Given the description of an element on the screen output the (x, y) to click on. 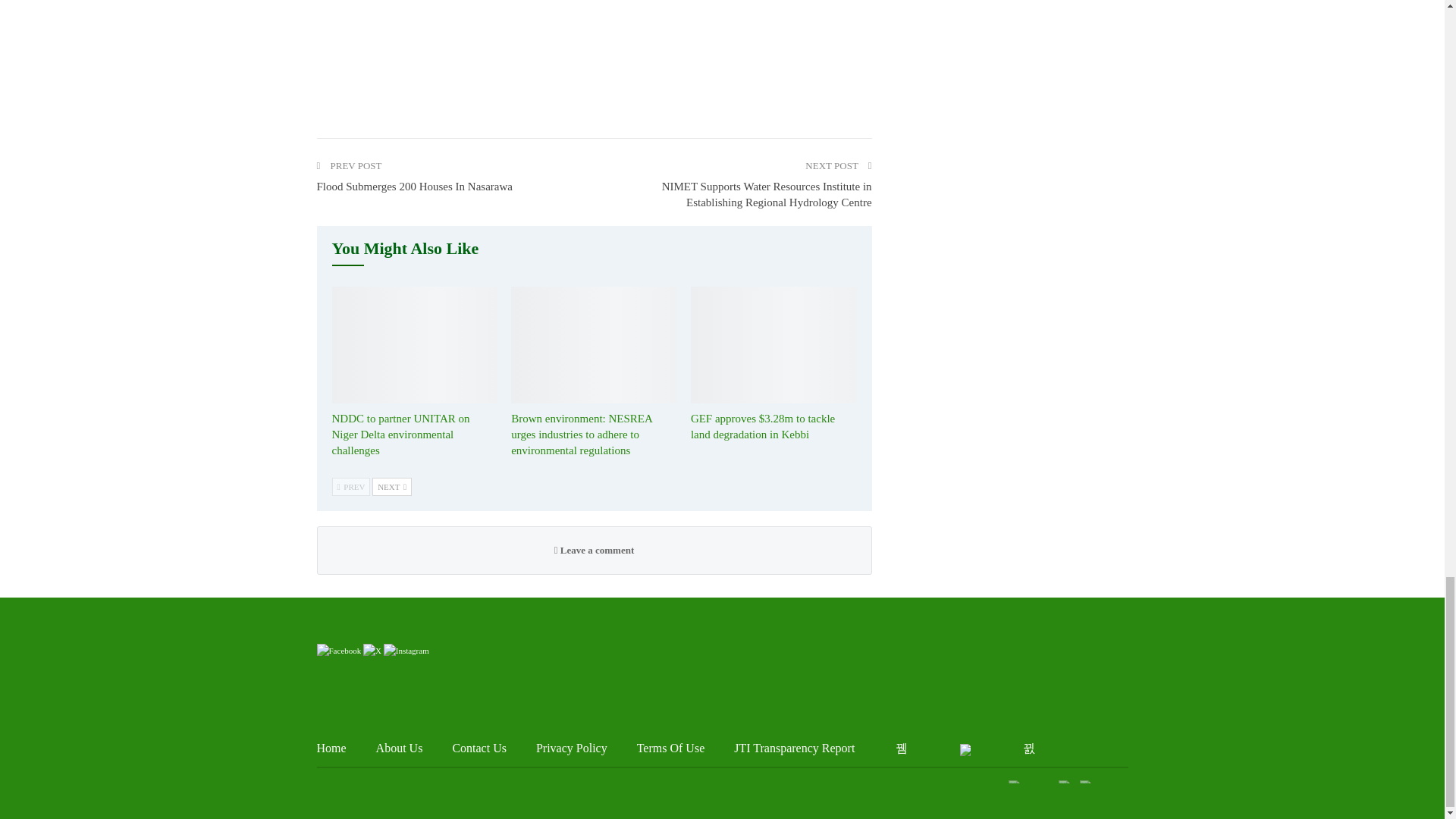
Previous (351, 486)
